Given the description of an element on the screen output the (x, y) to click on. 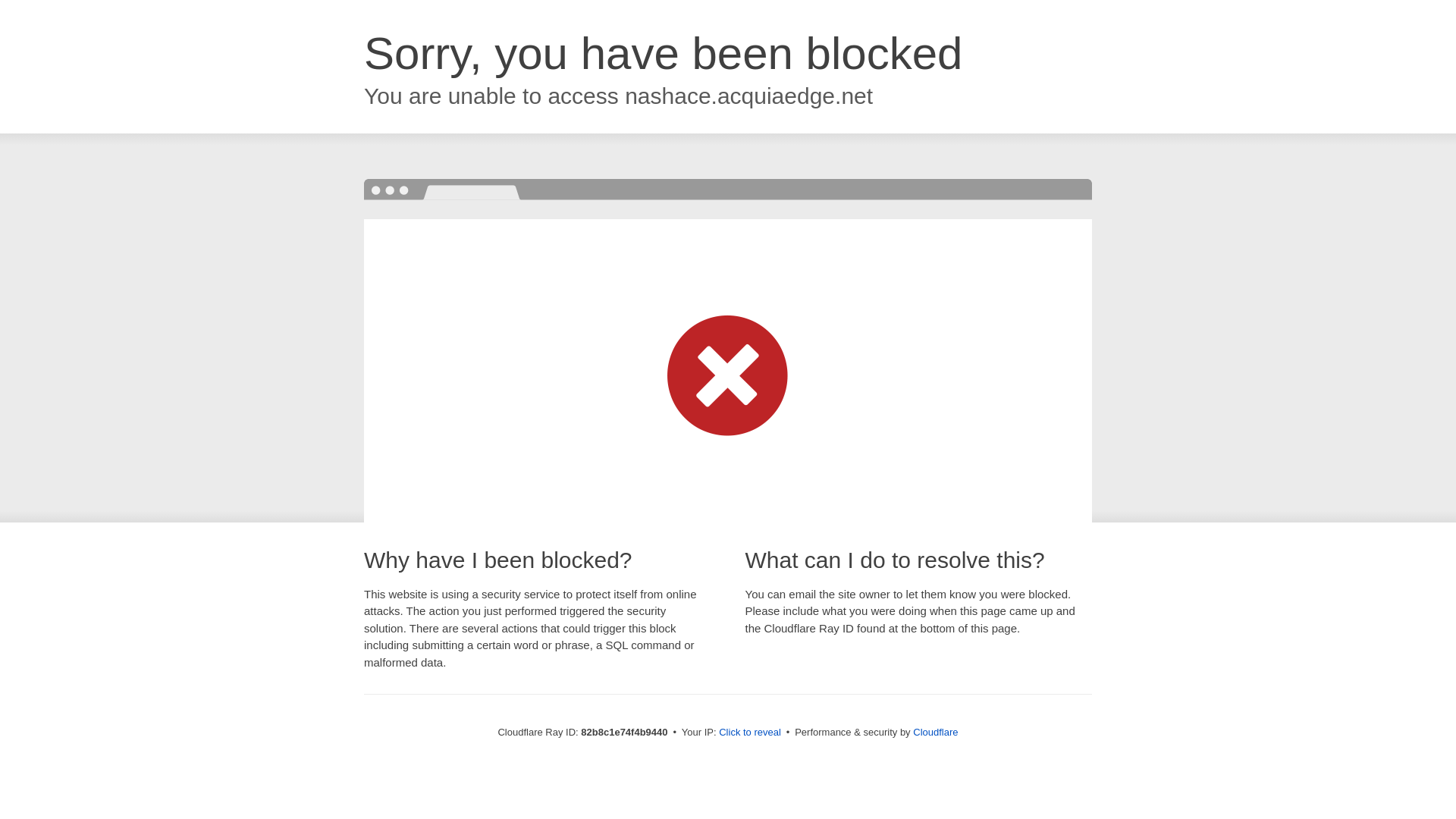
Cloudflare Element type: text (935, 731)
Click to reveal Element type: text (749, 732)
